Given the description of an element on the screen output the (x, y) to click on. 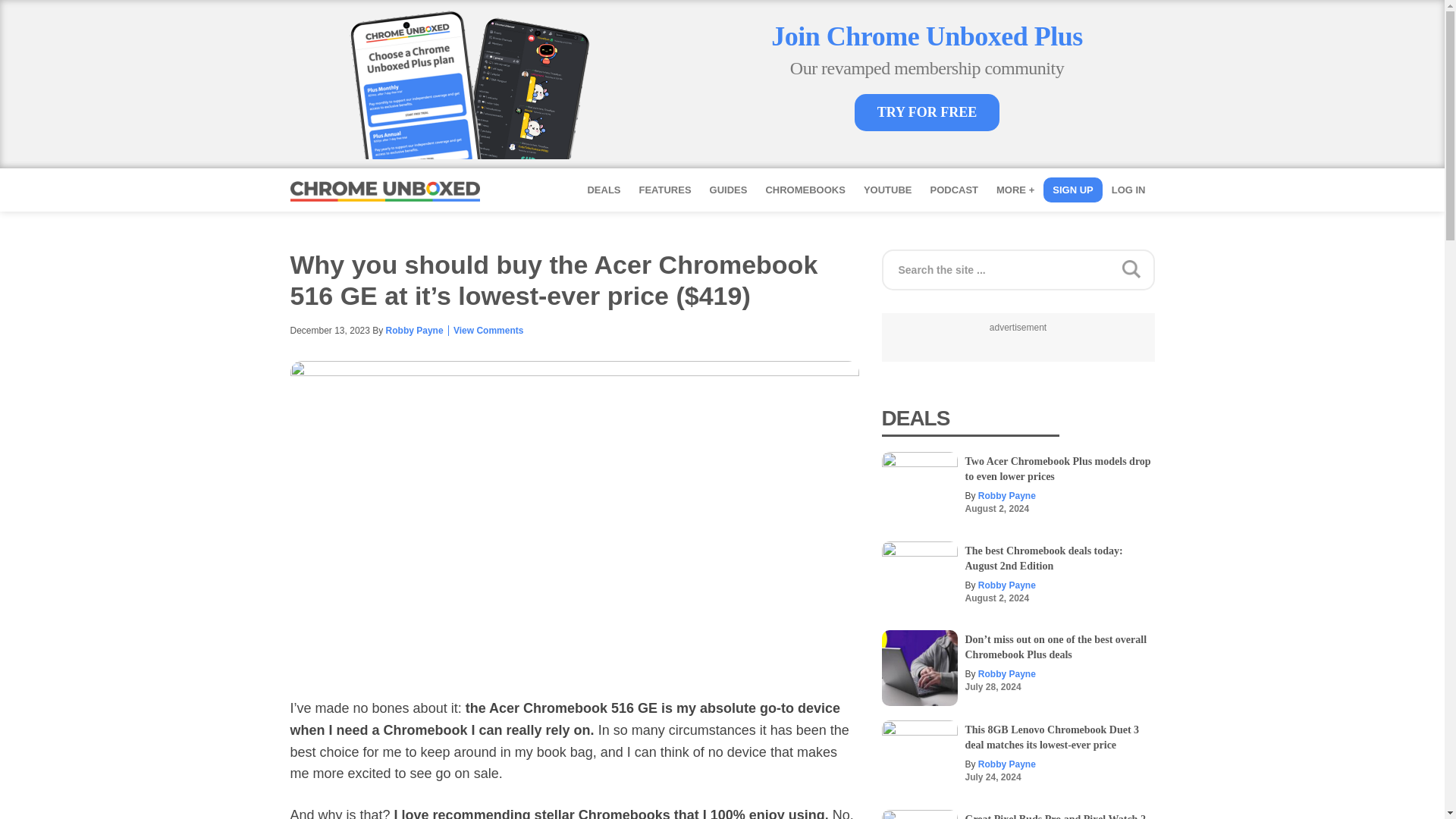
Search (1290, 263)
PODCAST (953, 189)
GUIDES (728, 189)
CHROMEBOOKS (804, 189)
TRY FOR FREE (927, 112)
FEATURES (664, 189)
YOUTUBE (887, 189)
Search (1290, 263)
DEALS (603, 189)
